Given the description of an element on the screen output the (x, y) to click on. 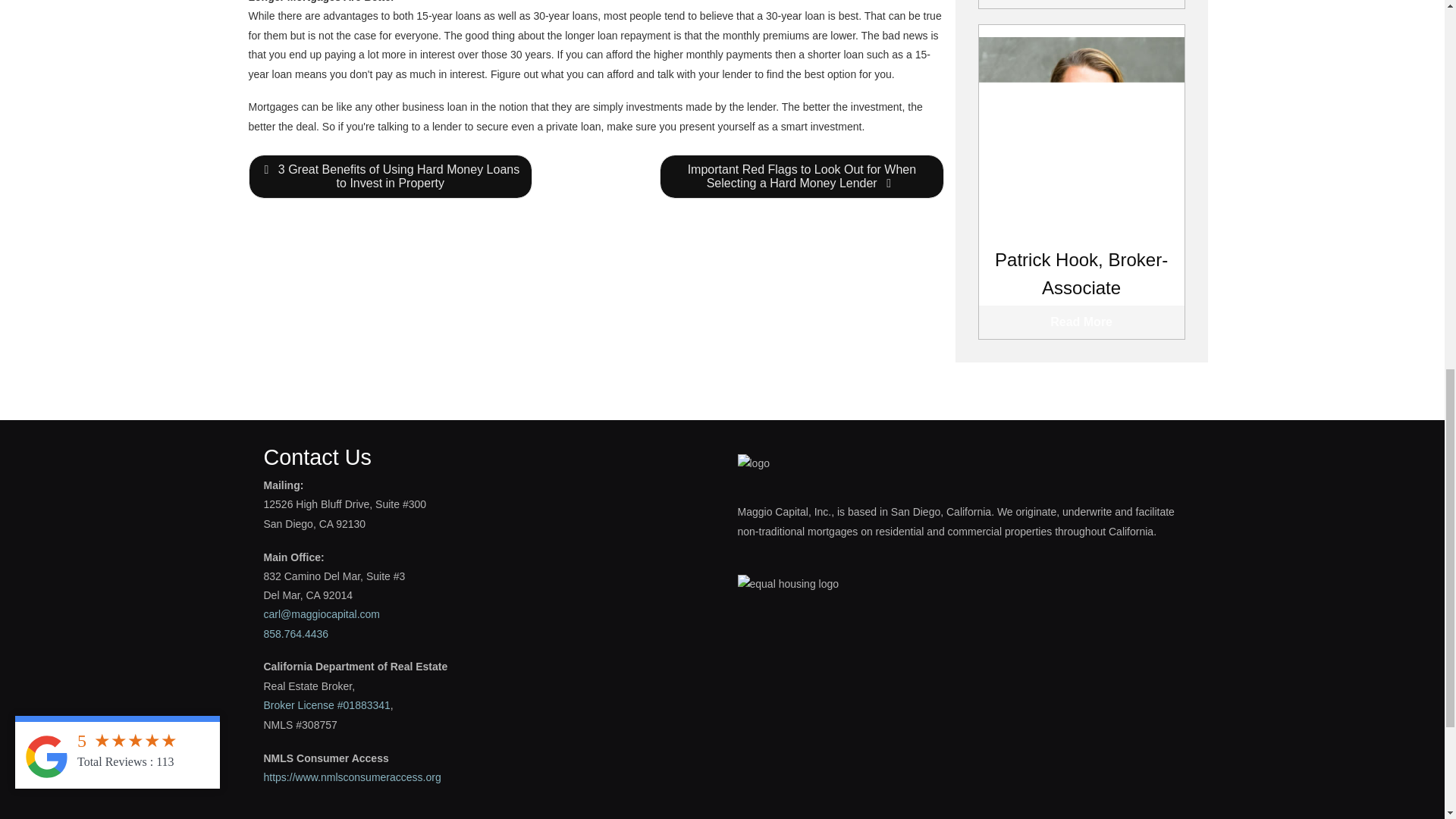
Read More (1081, 4)
Read More (1081, 322)
858.764.4436 (296, 633)
